Given the description of an element on the screen output the (x, y) to click on. 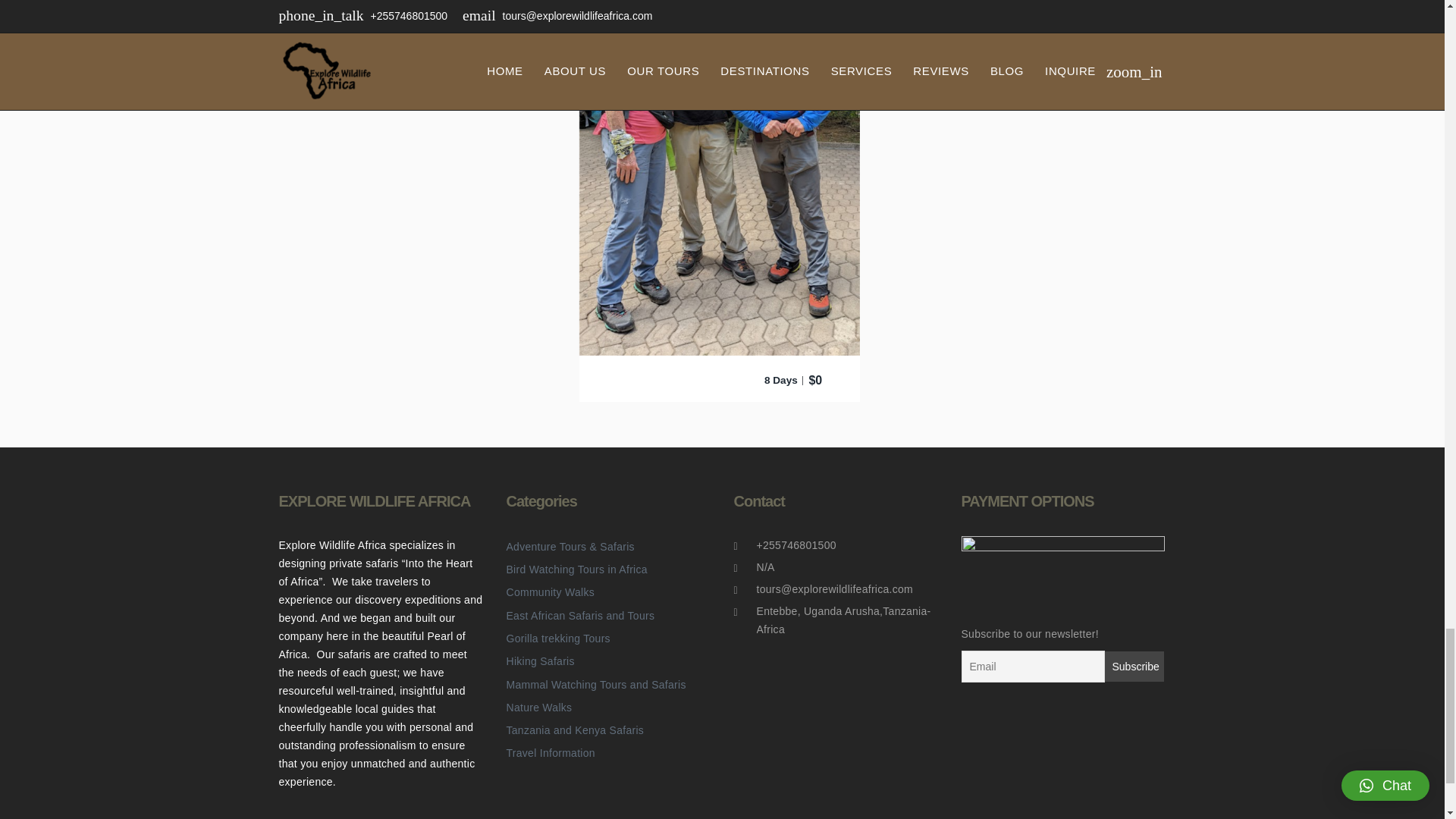
Subscribe (1133, 666)
